Given the description of an element on the screen output the (x, y) to click on. 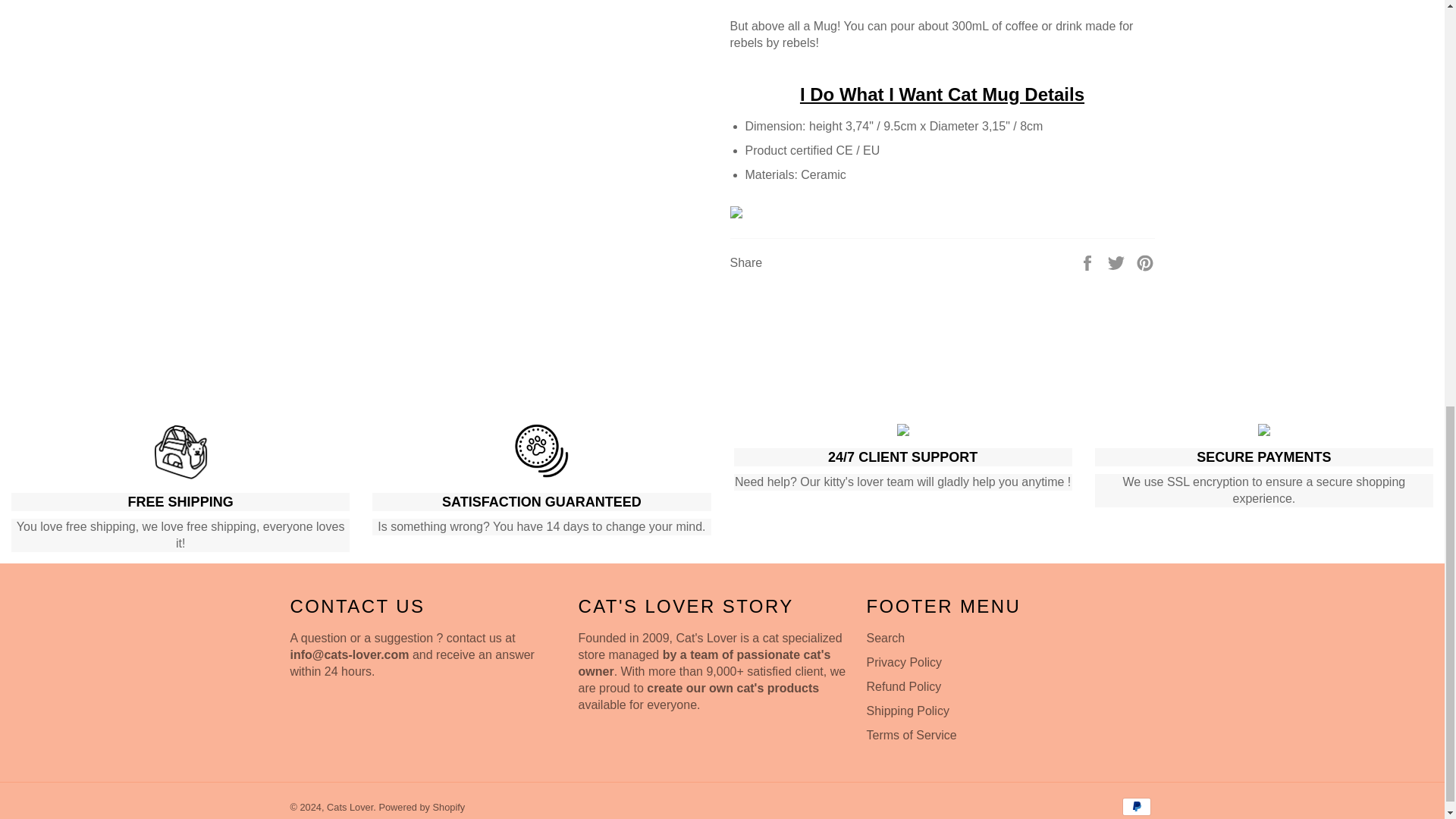
Share on Facebook (1088, 261)
Pin on Pinterest (1144, 261)
Tweet on Twitter (1117, 261)
